Given the description of an element on the screen output the (x, y) to click on. 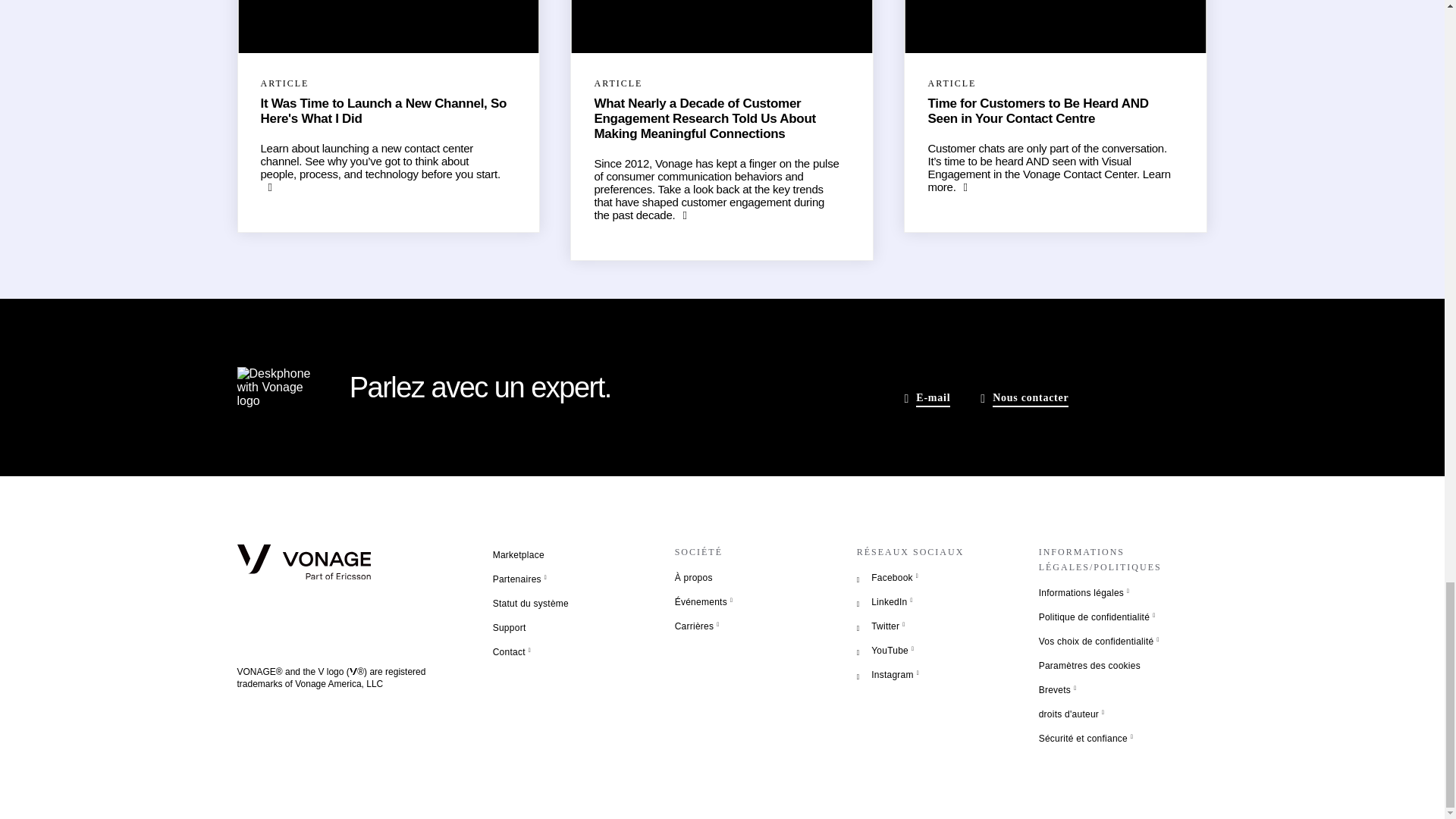
Vonage Phone (273, 386)
